Given the description of an element on the screen output the (x, y) to click on. 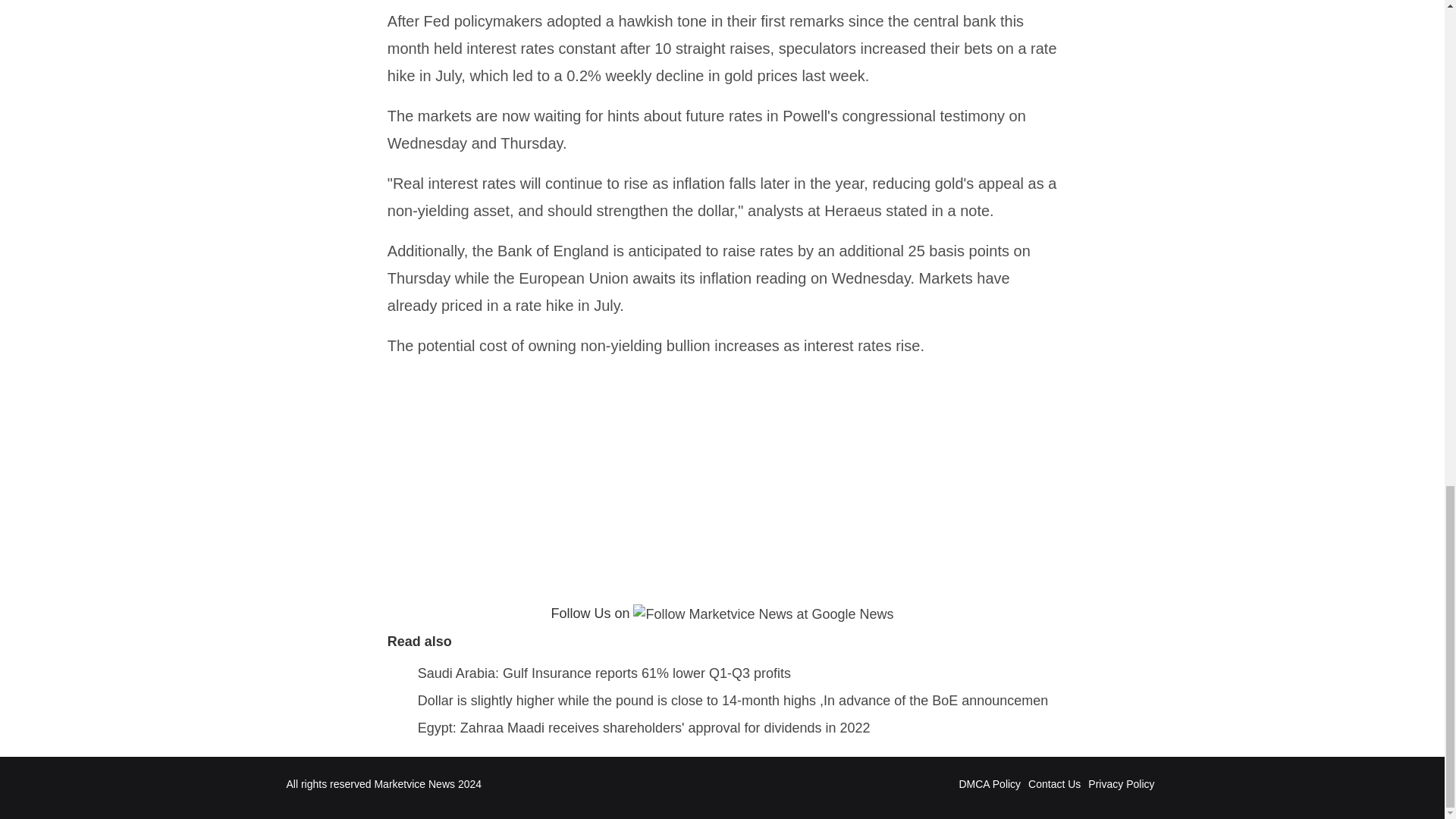
Privacy Policy (1120, 784)
DMCA Policy (989, 784)
Contact Us (1053, 784)
